Given the description of an element on the screen output the (x, y) to click on. 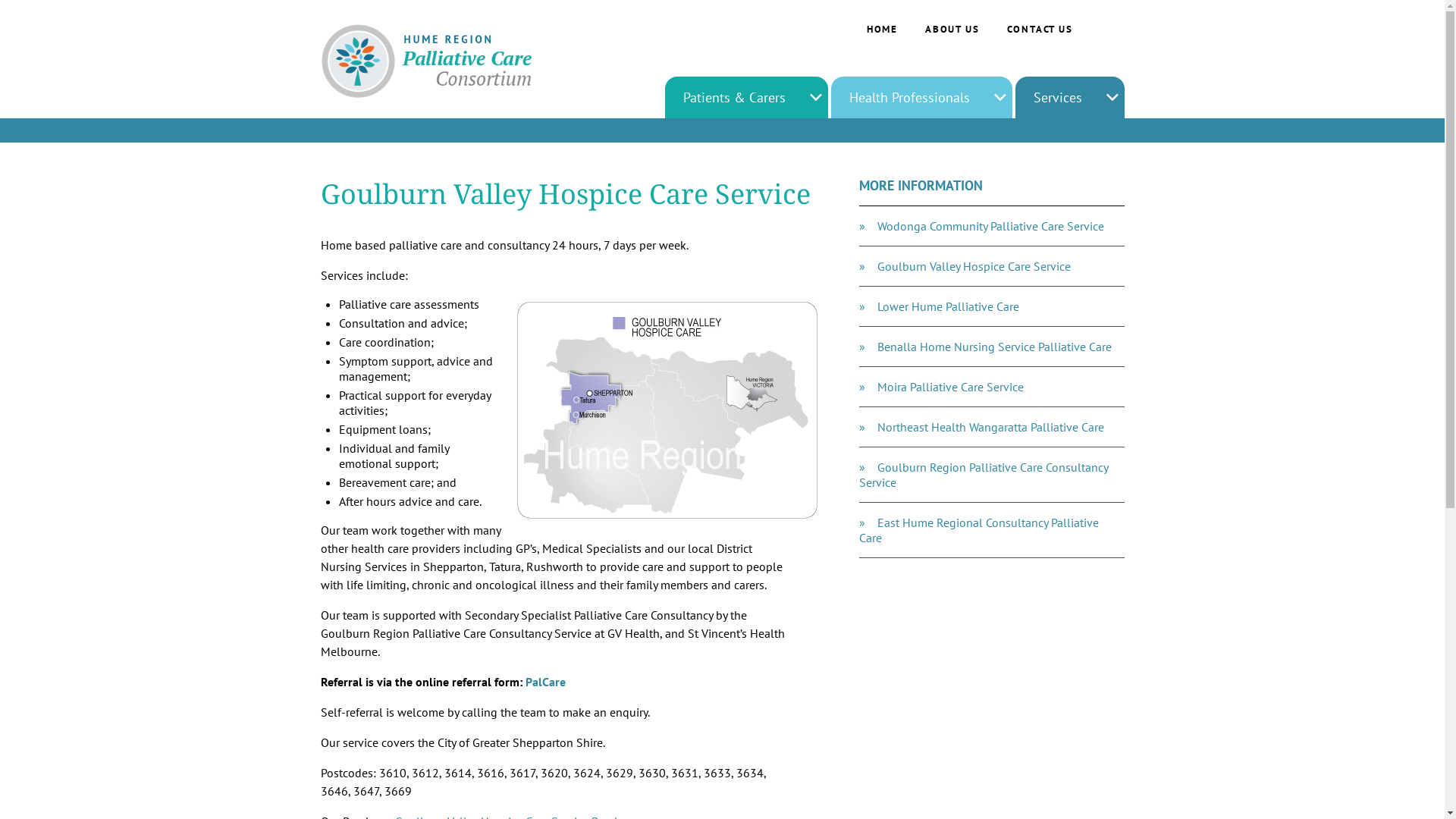
Moira Palliative Care Service Element type: text (991, 387)
Northeast Health Wangaratta Palliative Care Element type: text (991, 427)
East Hume Regional Consultancy Palliative Care Element type: text (991, 530)
Patients & Carers Element type: text (733, 97)
HOME Element type: text (882, 29)
PalCare Element type: text (544, 681)
CONTACT US Element type: text (1039, 29)
Goulburn Region Palliative Care Consultancy Service Element type: text (991, 474)
Goulburn Valley Hospice Care Service Element type: text (991, 266)
ABOUT US Element type: text (951, 29)
Health Professionals Element type: text (909, 97)
Wodonga Community Palliative Care Service Element type: text (991, 226)
Show sub menu Element type: text (815, 97)
Show sub menu Element type: text (1111, 97)
Benalla Home Nursing Service Palliative Care Element type: text (991, 346)
Show sub menu Element type: text (999, 97)
Services Element type: text (1056, 97)
Lower Hume Palliative Care Element type: text (991, 306)
